Given the description of an element on the screen output the (x, y) to click on. 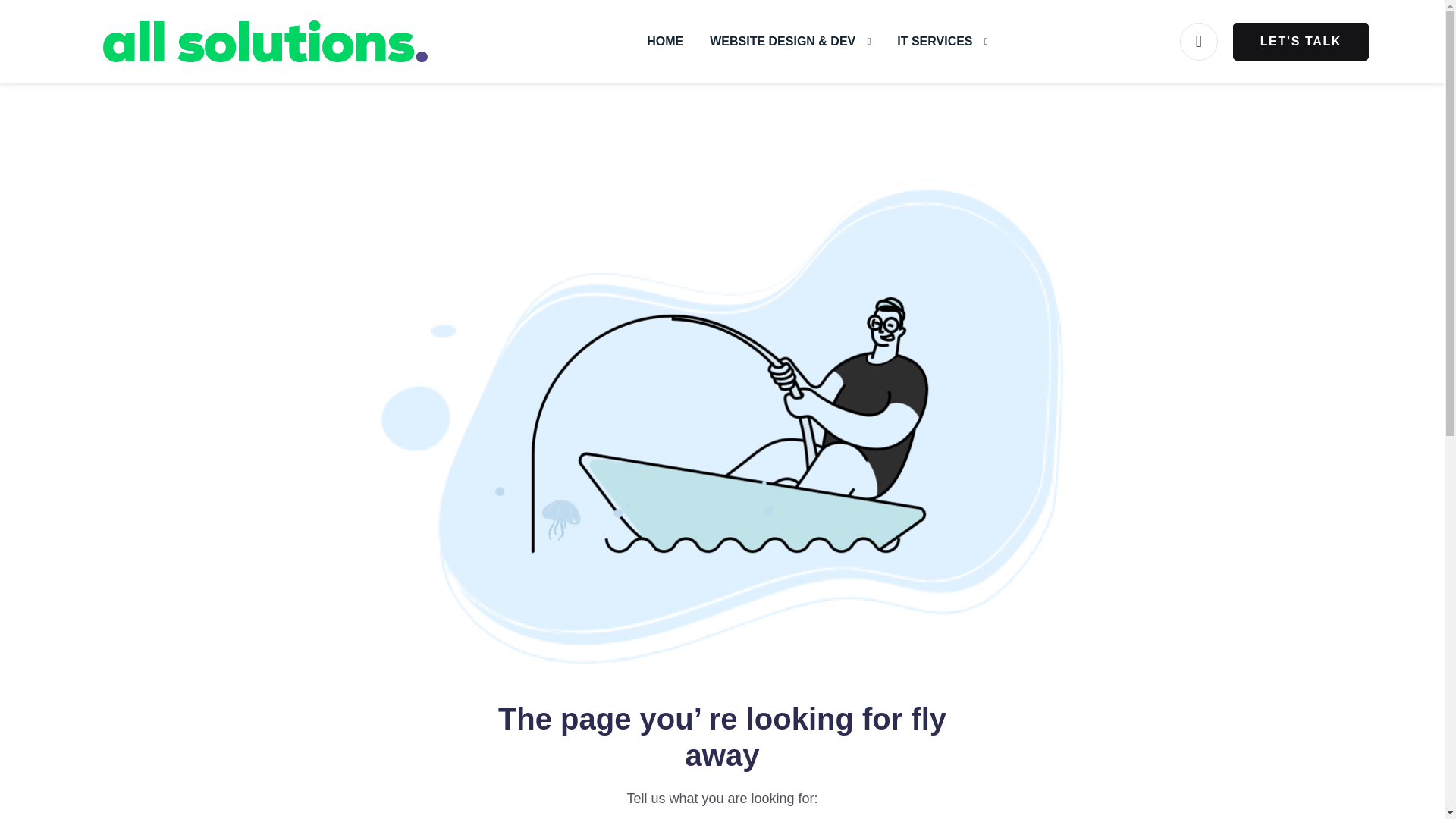
IT SERVICES (941, 41)
Home (664, 41)
HOME (664, 41)
IT Services (941, 41)
